Given the description of an element on the screen output the (x, y) to click on. 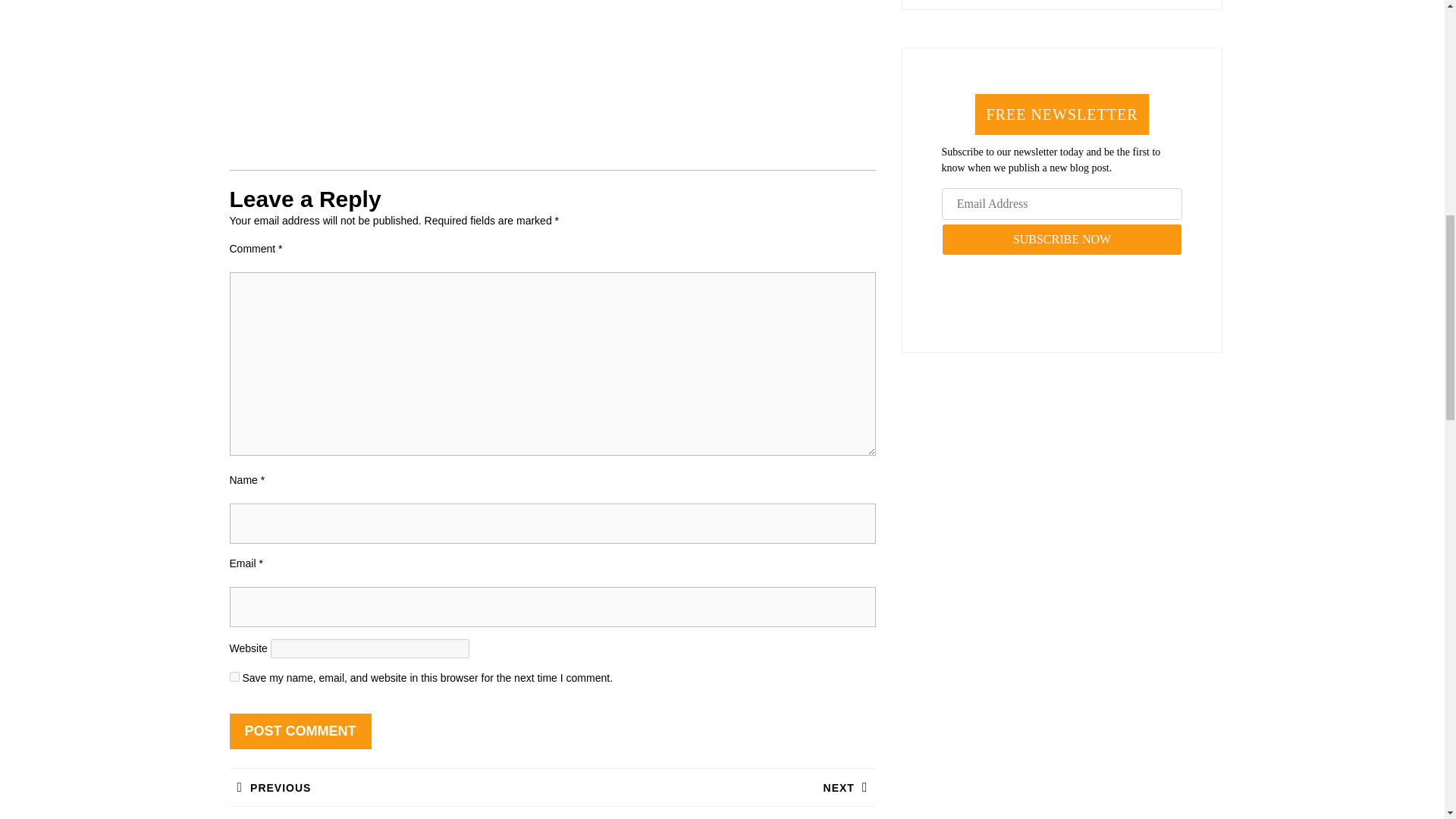
Post Comment (299, 731)
SUBSCRIBE NOW (1062, 239)
Post Comment (299, 731)
yes (389, 787)
